Given the description of an element on the screen output the (x, y) to click on. 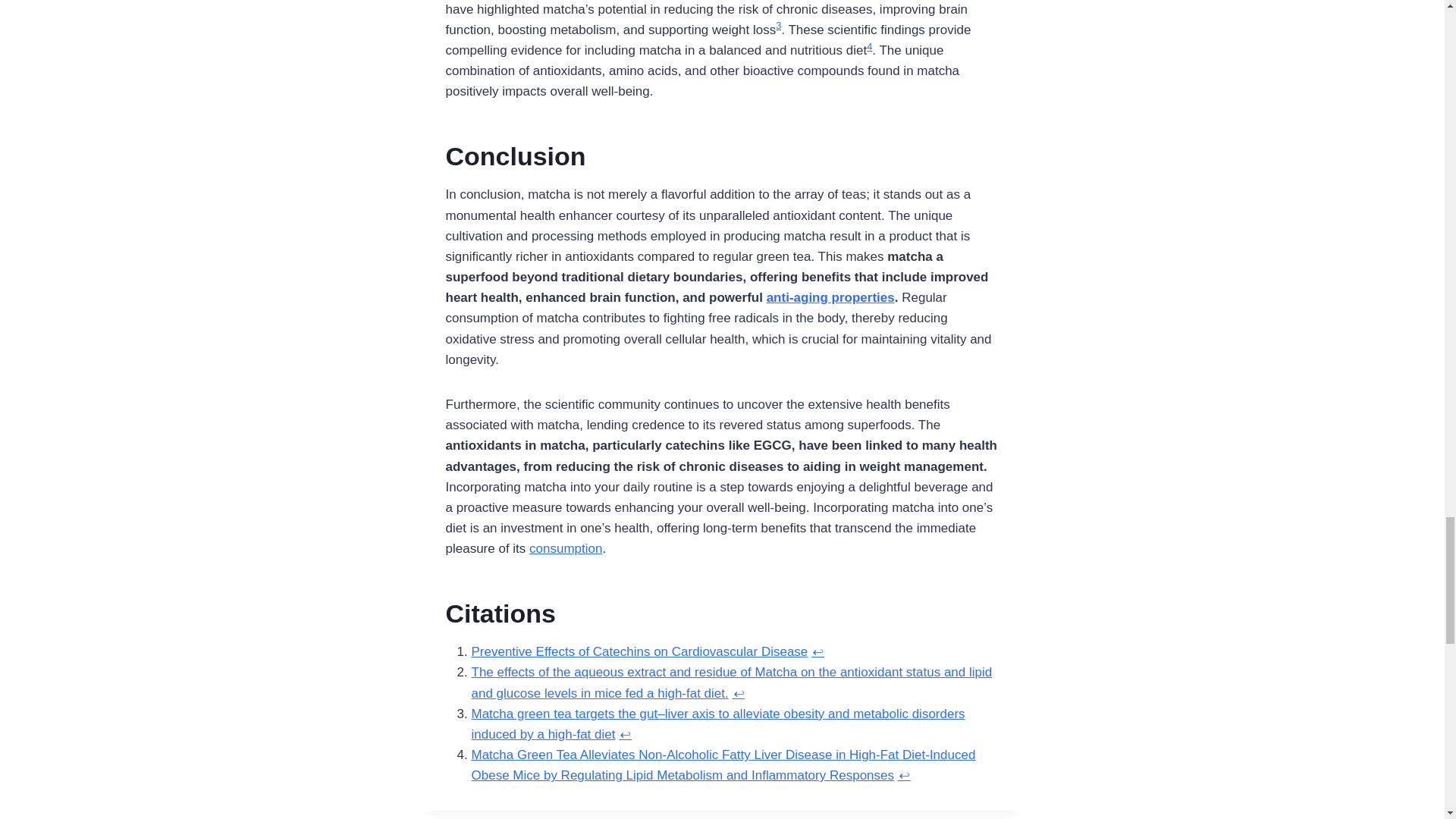
Preventive Effects of Catechins on Cardiovascular Disease (639, 651)
consumption (565, 548)
anti-aging properties (831, 297)
